Given the description of an element on the screen output the (x, y) to click on. 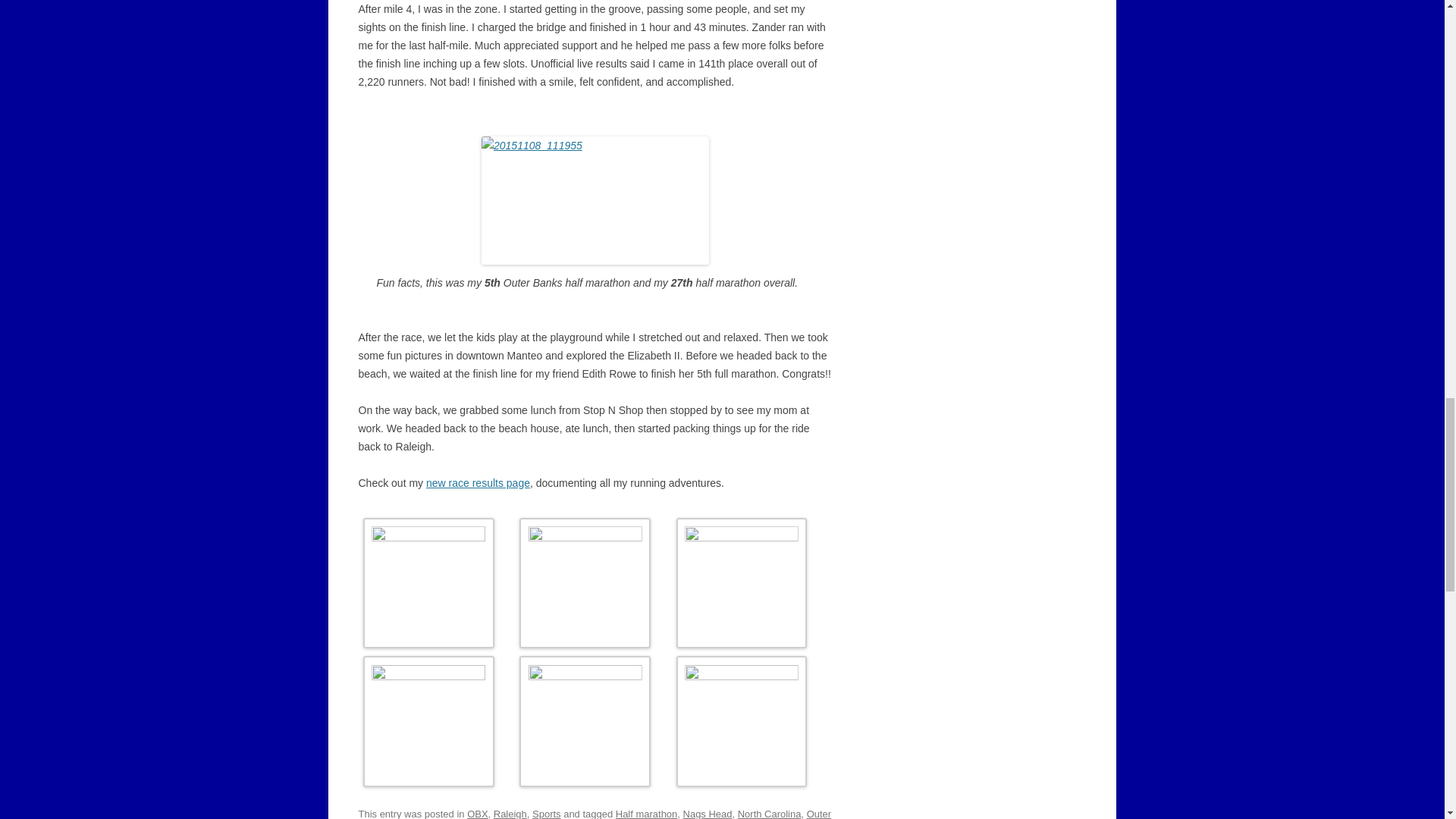
new race results page (477, 482)
Raleigh (510, 813)
North Carolina (770, 813)
Half marathon (646, 813)
Outer Banks (594, 813)
Sports (546, 813)
OBX (477, 813)
Nags Head (707, 813)
